Given the description of an element on the screen output the (x, y) to click on. 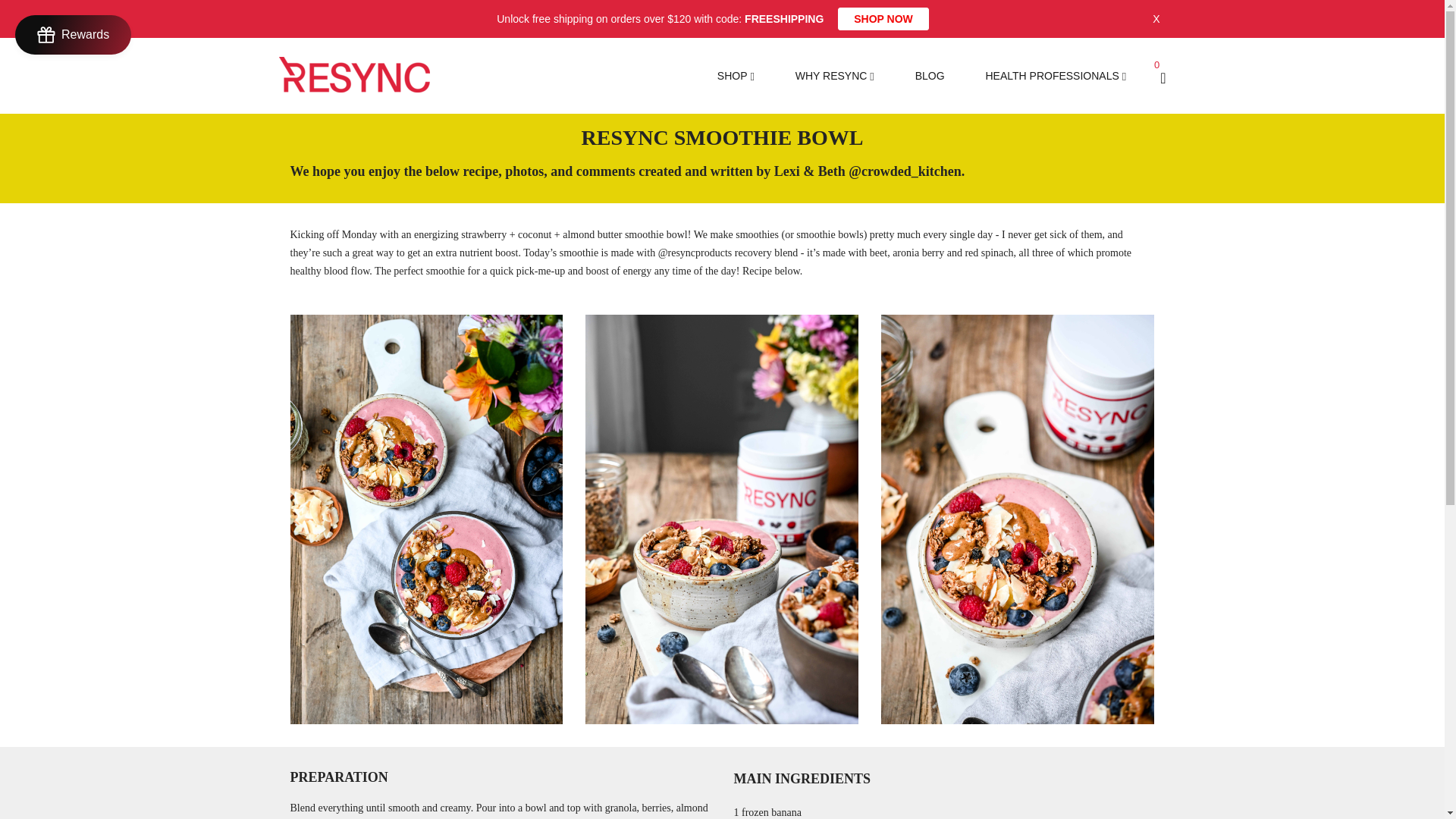
X (1156, 18)
HEALTH PROFESSIONALS (1051, 75)
SHOP NOW (883, 18)
WHY RESYNC (830, 75)
